Given the description of an element on the screen output the (x, y) to click on. 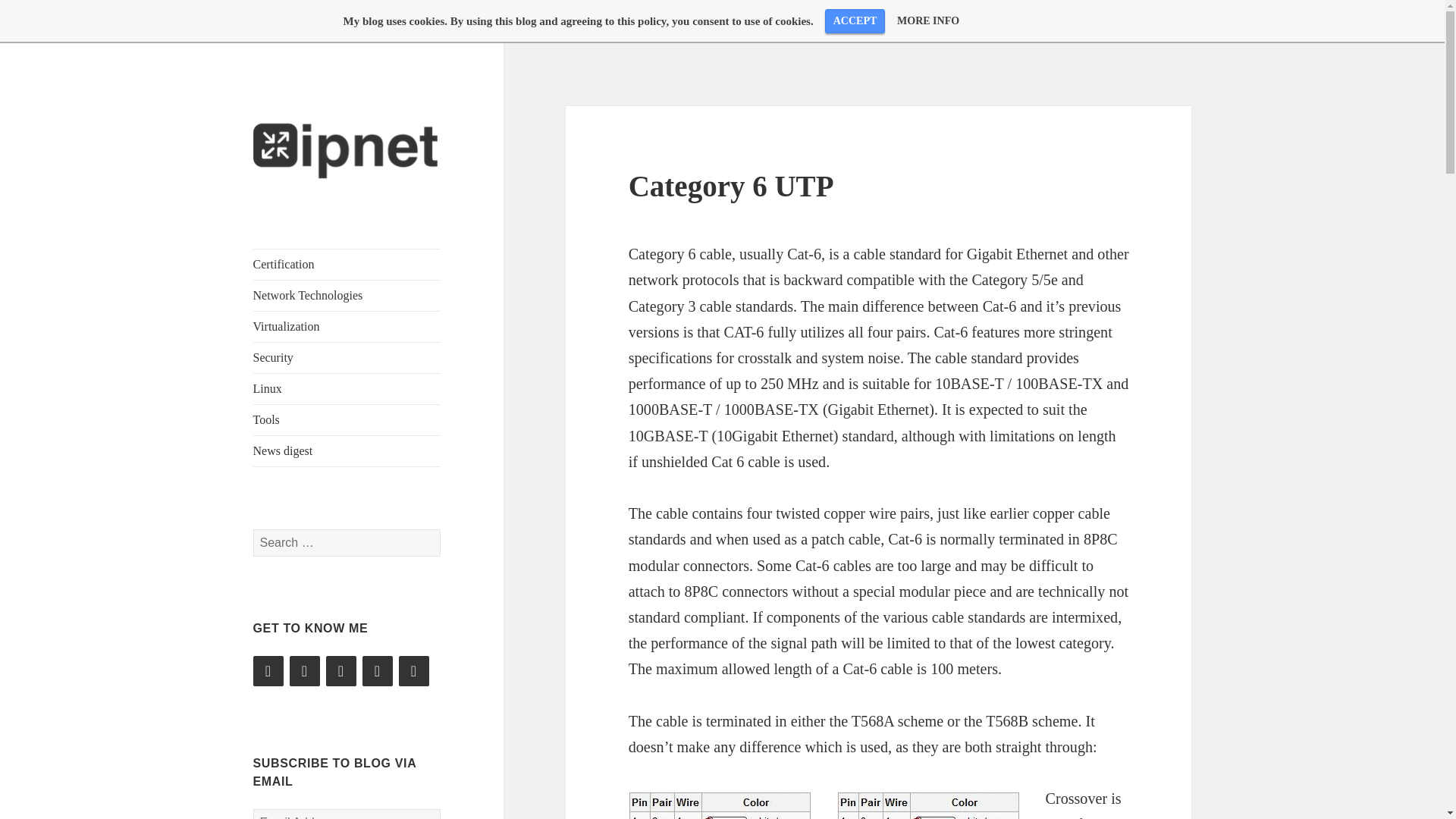
Tools (347, 419)
Certification (347, 264)
Linux (347, 388)
Security (347, 358)
Network Technologies (347, 295)
News digest (347, 450)
t586b-scheme (719, 805)
Virtualization (347, 327)
IPNET (283, 210)
ACCEPT (855, 21)
t586a-scheme (928, 805)
MORE INFO (927, 20)
